Given the description of an element on the screen output the (x, y) to click on. 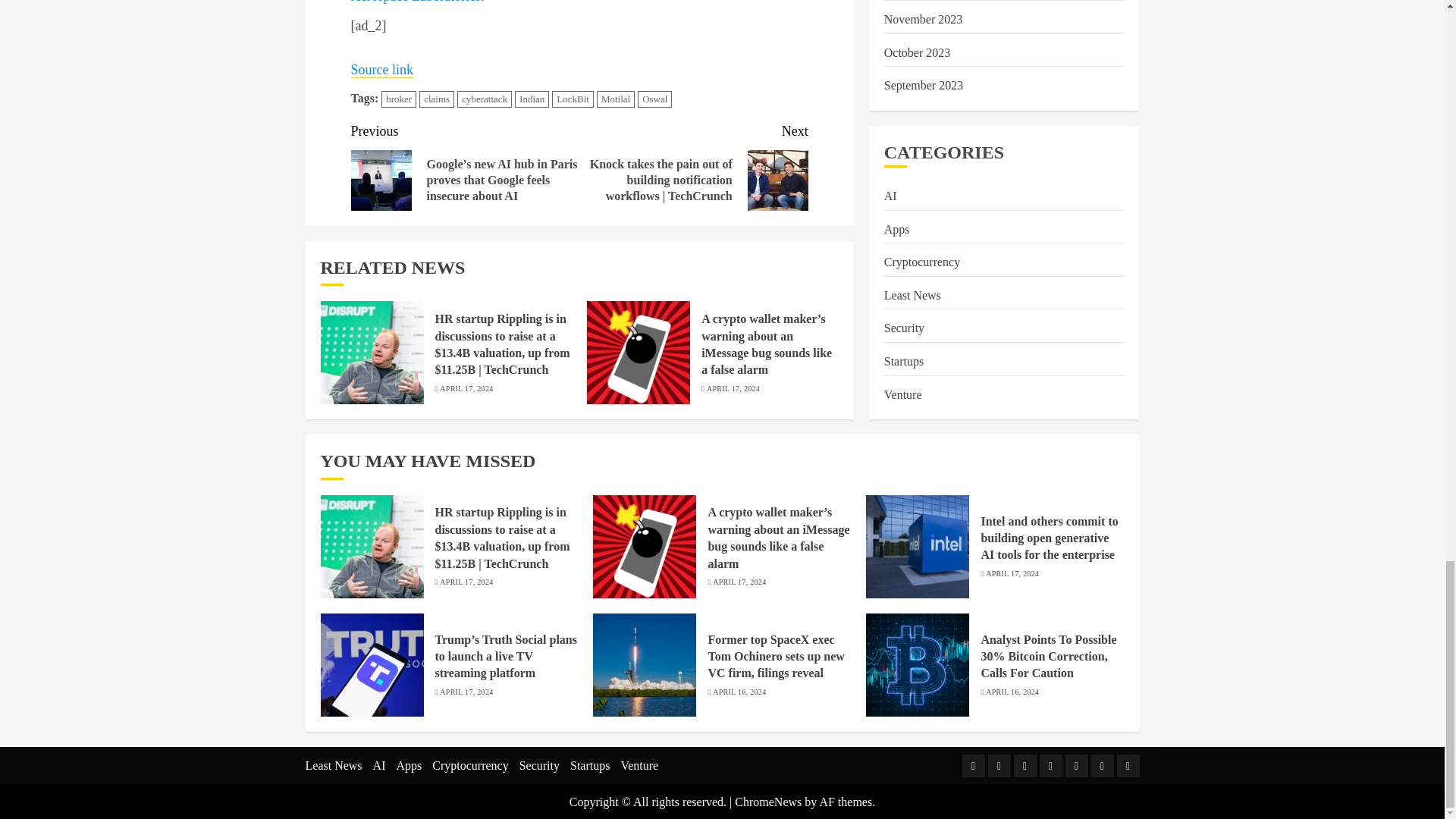
cyberattack (484, 99)
Source link (381, 69)
National Aerospace Laboratories (552, 2)
broker (398, 99)
claims (436, 99)
Indian (531, 99)
